Given the description of an element on the screen output the (x, y) to click on. 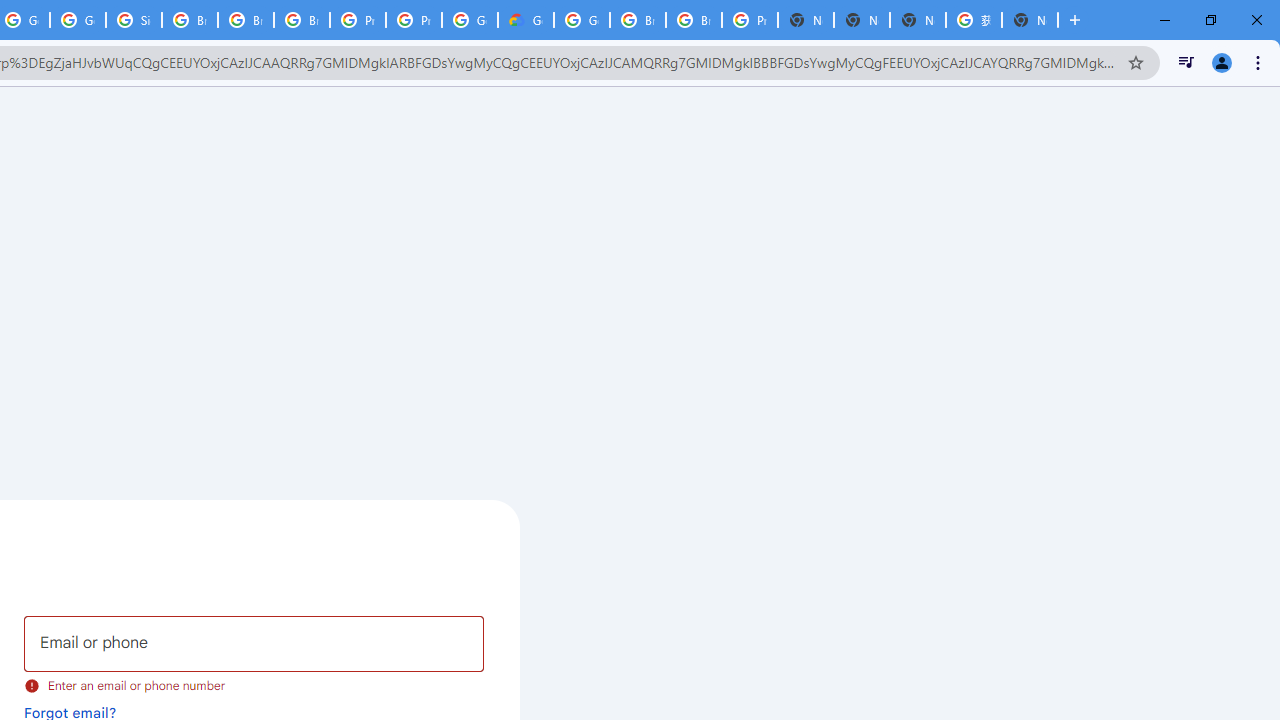
New Tab (1030, 20)
New Tab (806, 20)
Google Cloud Estimate Summary (525, 20)
Browse Chrome as a guest - Computer - Google Chrome Help (637, 20)
Email or phone (253, 643)
